Given the description of an element on the screen output the (x, y) to click on. 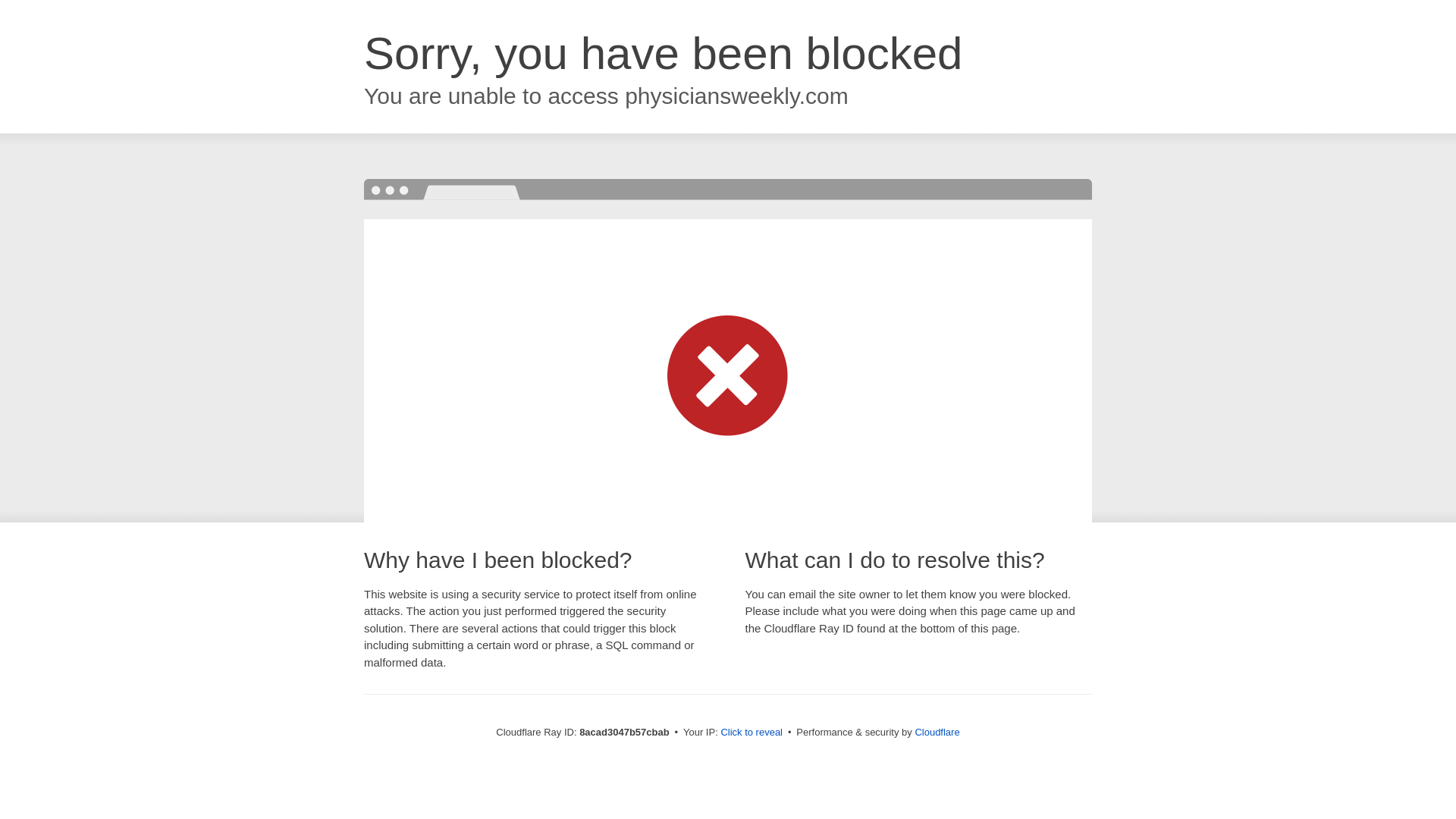
Click to reveal (751, 732)
Cloudflare (936, 731)
